Given the description of an element on the screen output the (x, y) to click on. 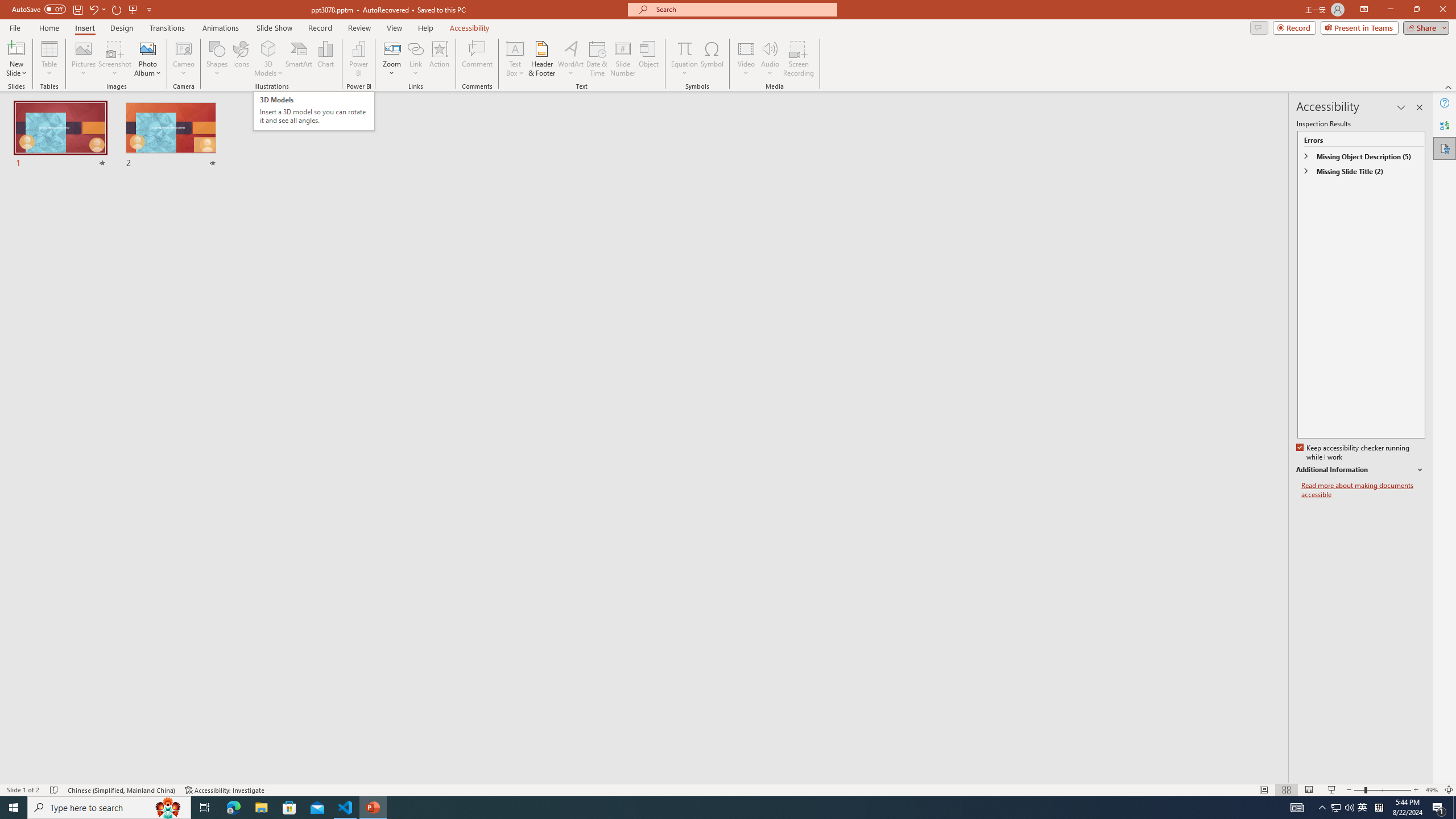
Link (415, 48)
Equation (683, 58)
Screen Recording... (798, 58)
Action (439, 58)
Icons (240, 58)
